Given the description of an element on the screen output the (x, y) to click on. 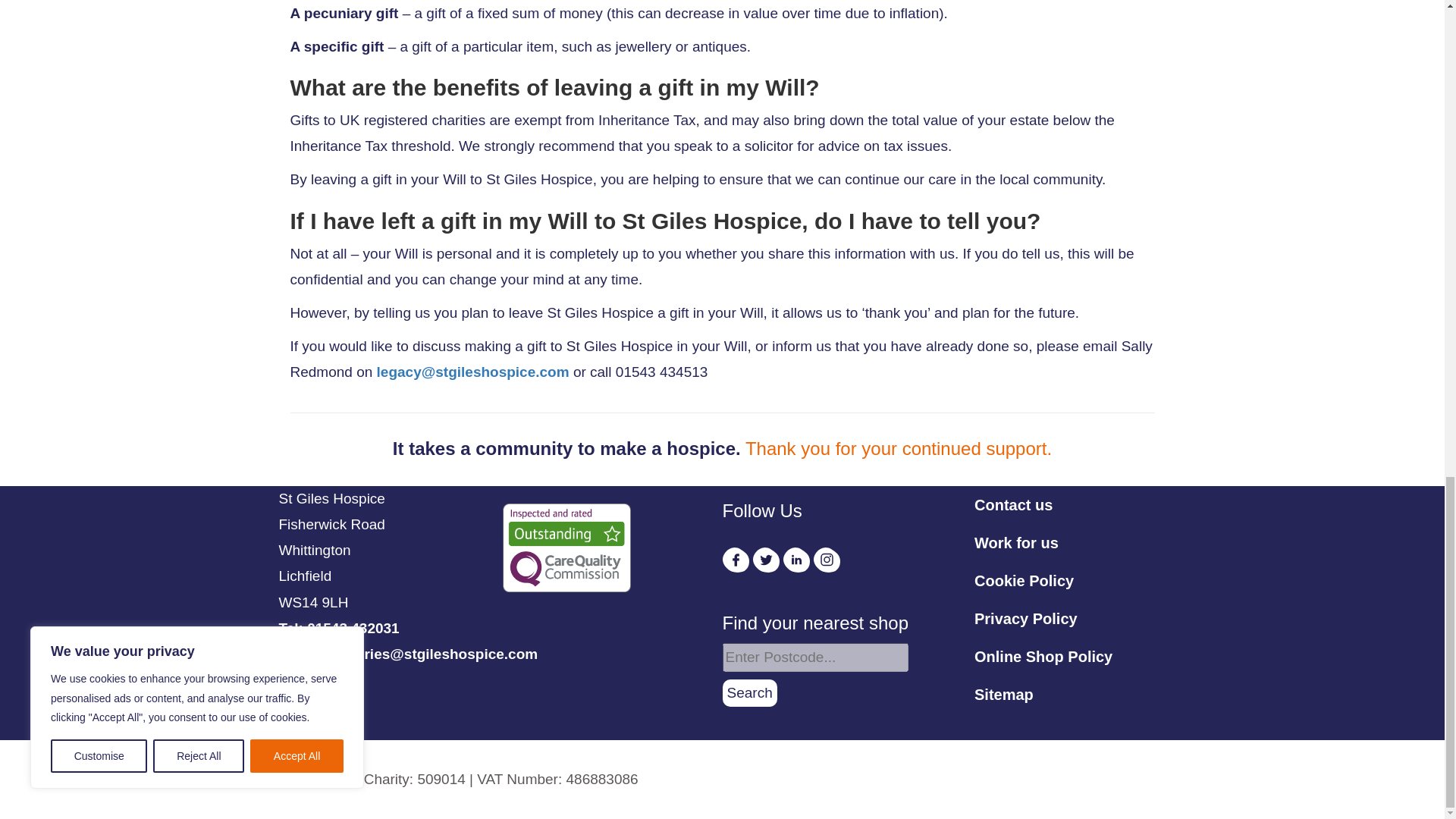
Instagram (826, 559)
LinkedIn (796, 559)
Twitter (765, 559)
Page 1 (463, 779)
Facebook (735, 559)
Search (749, 692)
